Given the description of an element on the screen output the (x, y) to click on. 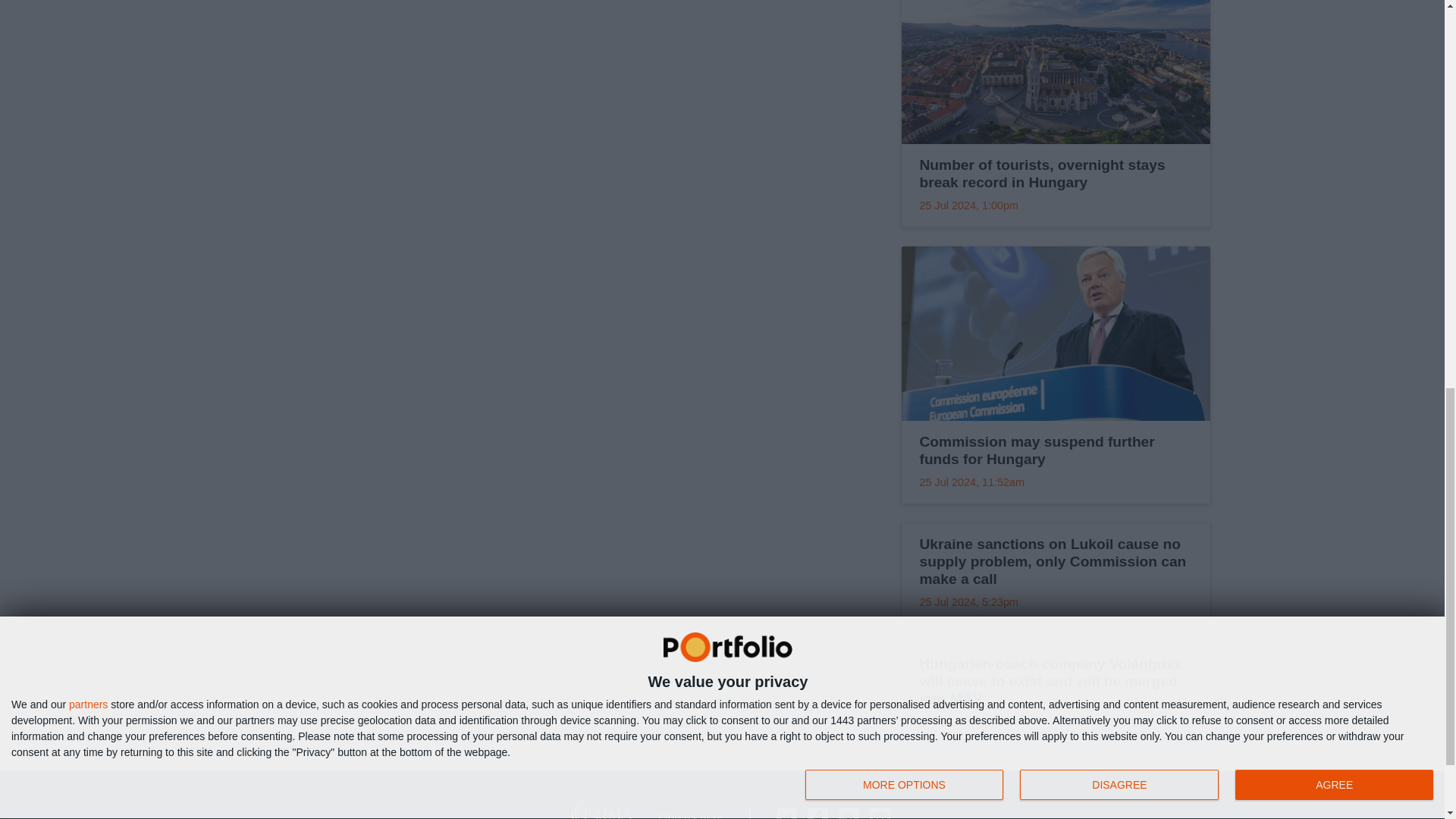
Facebook (818, 813)
E-mail (879, 813)
Twitter (786, 813)
RSS (848, 813)
